Given the description of an element on the screen output the (x, y) to click on. 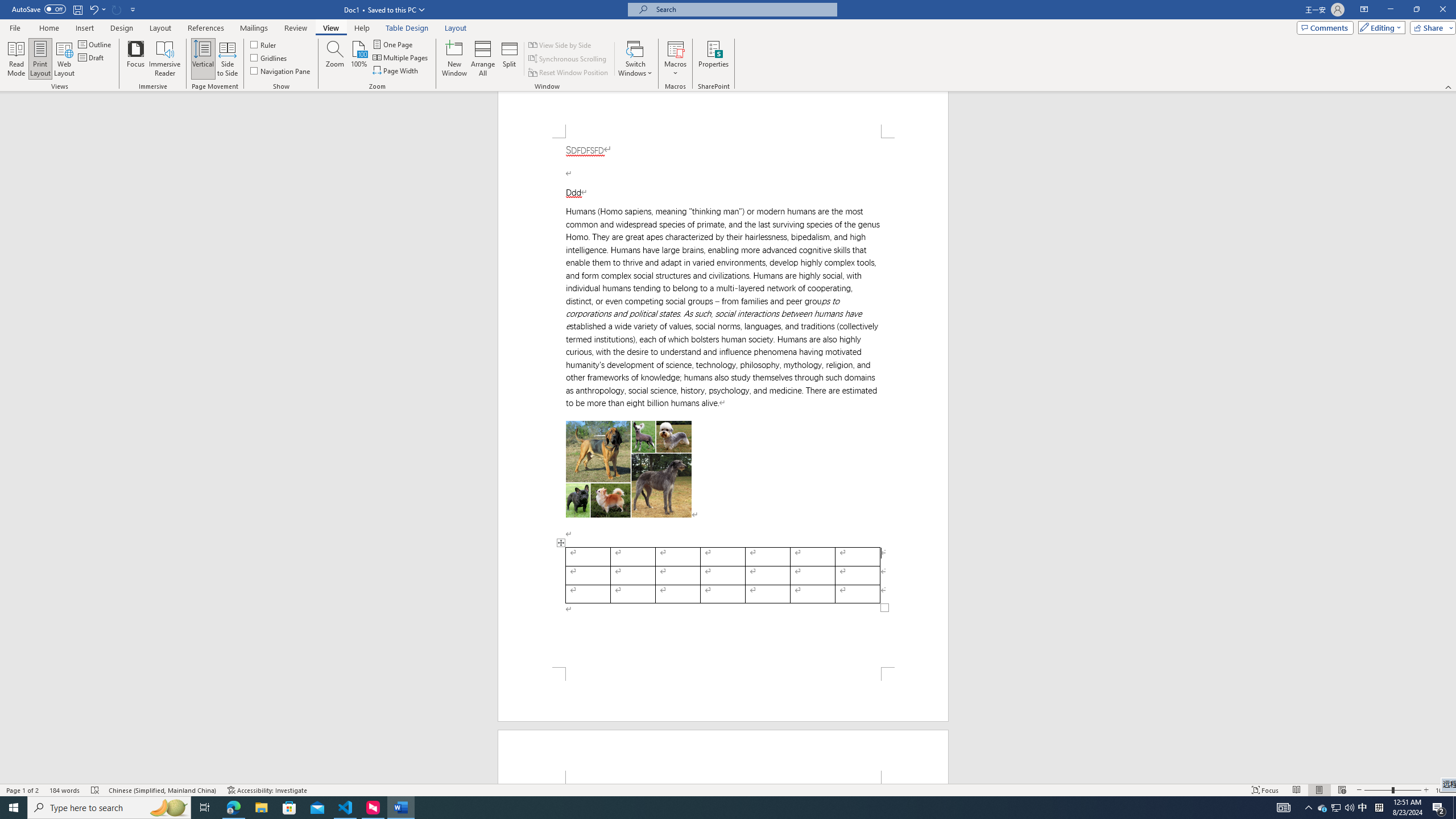
Focus (135, 58)
Arrange All (483, 58)
Gridlines (269, 56)
Page Number Page 1 of 2 (22, 790)
Reset Window Position (569, 72)
Multiple Pages (400, 56)
